Given the description of an element on the screen output the (x, y) to click on. 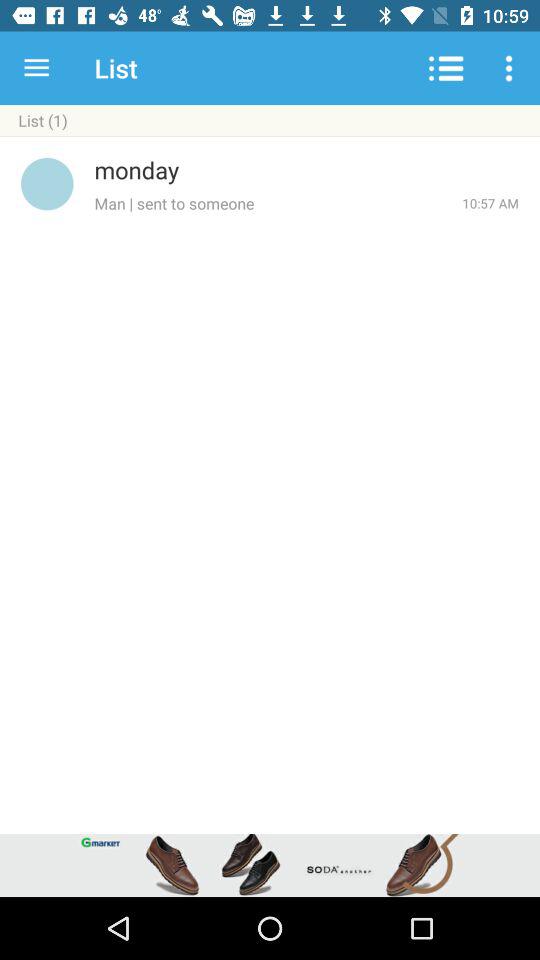
flip to monday item (306, 169)
